Given the description of an element on the screen output the (x, y) to click on. 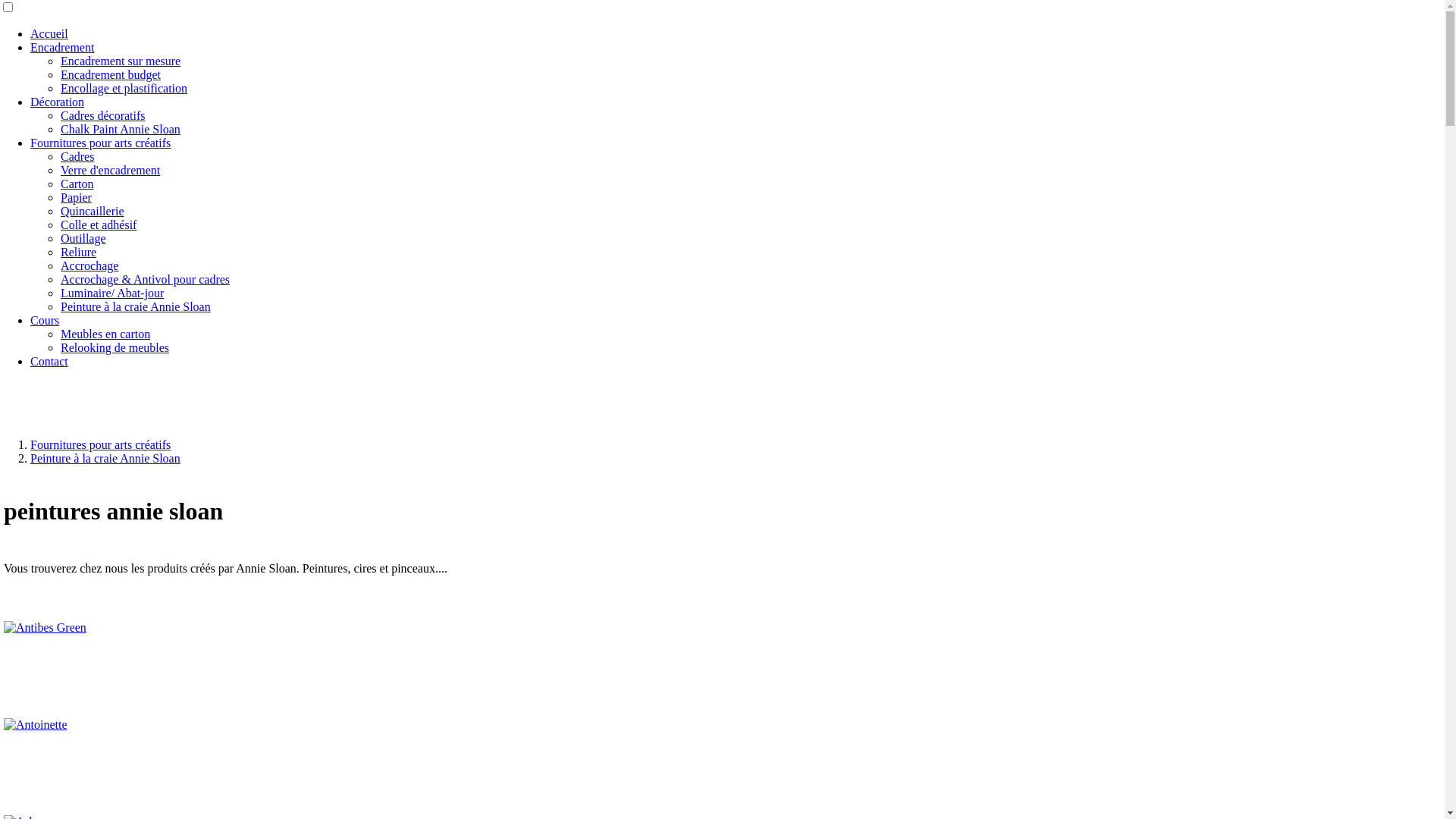
Cadres Element type: text (77, 156)
Encadrement budget Element type: text (110, 74)
Cours Element type: text (44, 319)
Chalk Paint Annie Sloan Element type: text (120, 128)
Accrochage & Antivol pour cadres Element type: text (144, 279)
Encadrement Element type: text (62, 46)
Accueil Element type: text (49, 33)
Outillage Element type: text (83, 238)
Relooking de meubles Element type: text (114, 347)
Papier Element type: text (75, 197)
Contact Element type: text (49, 360)
Verre d'encadrement Element type: text (110, 169)
Luminaire/ Abat-jour Element type: text (111, 292)
Meubles en carton Element type: text (105, 333)
Encadrement sur mesure Element type: text (120, 60)
Accrochage Element type: text (89, 265)
Encollage et plastification Element type: text (123, 87)
Carton Element type: text (77, 183)
Reliure Element type: text (78, 251)
Quincaillerie Element type: text (92, 210)
